Given the description of an element on the screen output the (x, y) to click on. 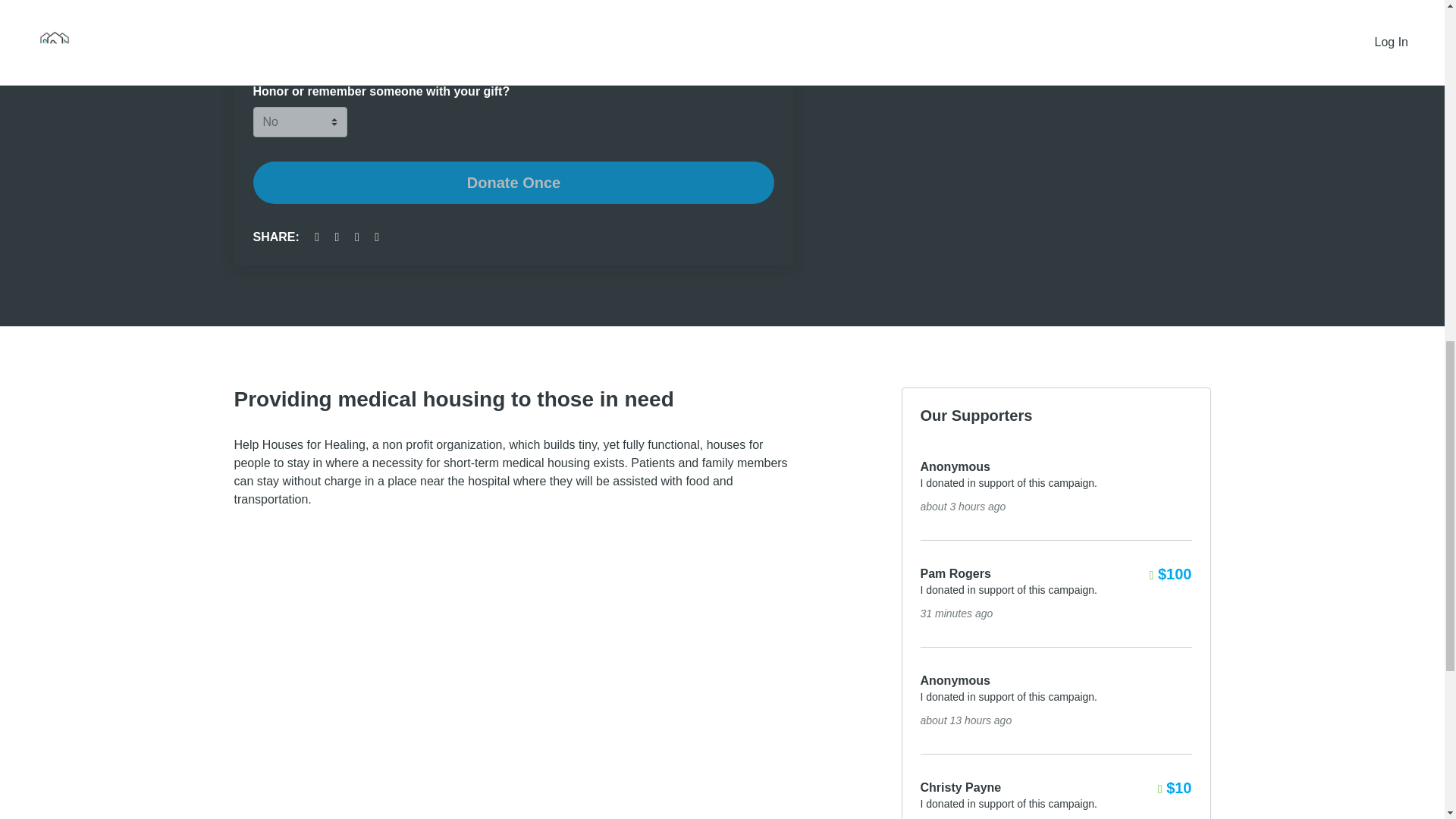
1 (524, 48)
1 (258, 48)
Donate Once (513, 182)
